Given the description of an element on the screen output the (x, y) to click on. 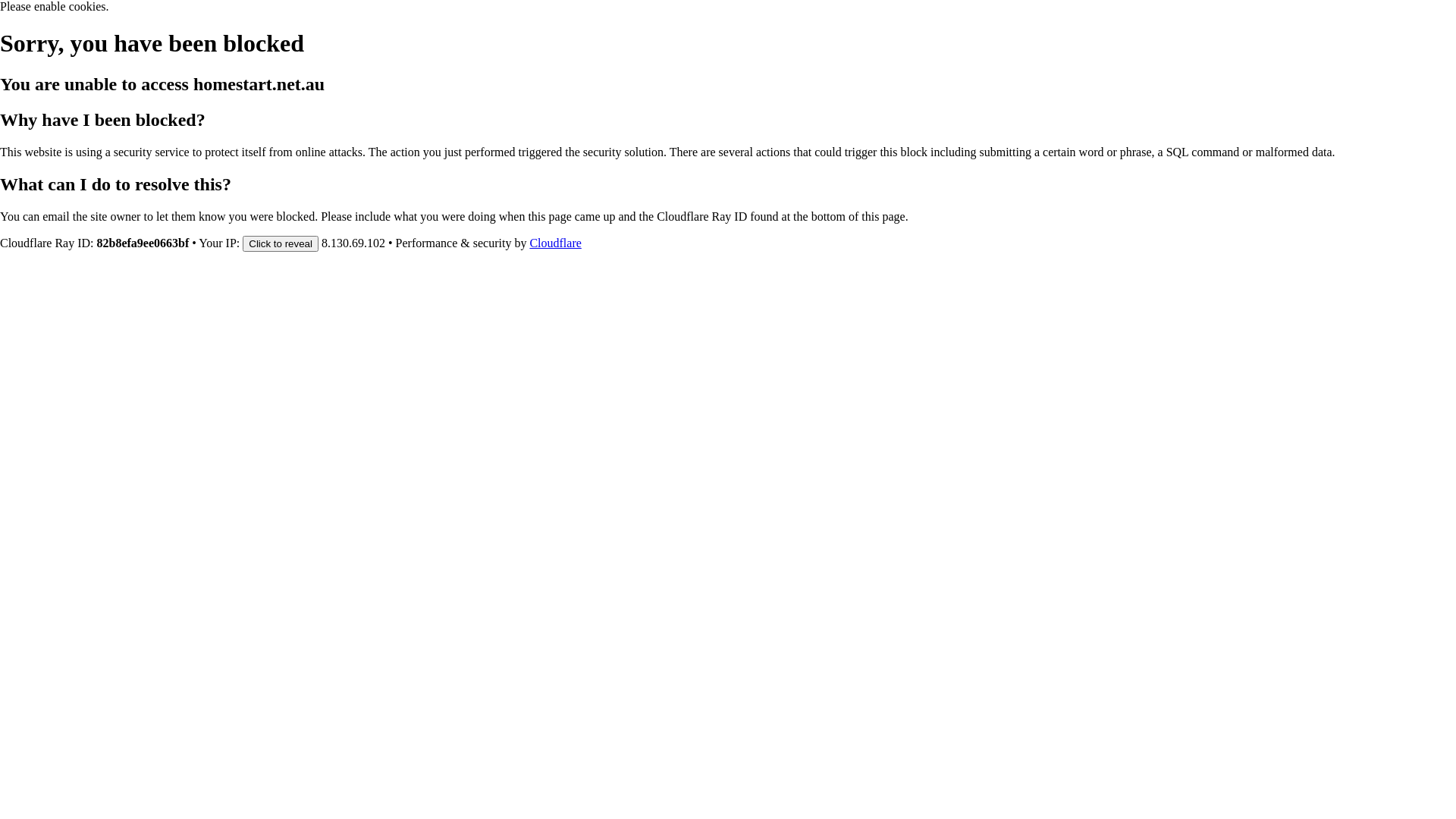
Click to reveal Element type: text (280, 243)
Cloudflare Element type: text (554, 242)
